Given the description of an element on the screen output the (x, y) to click on. 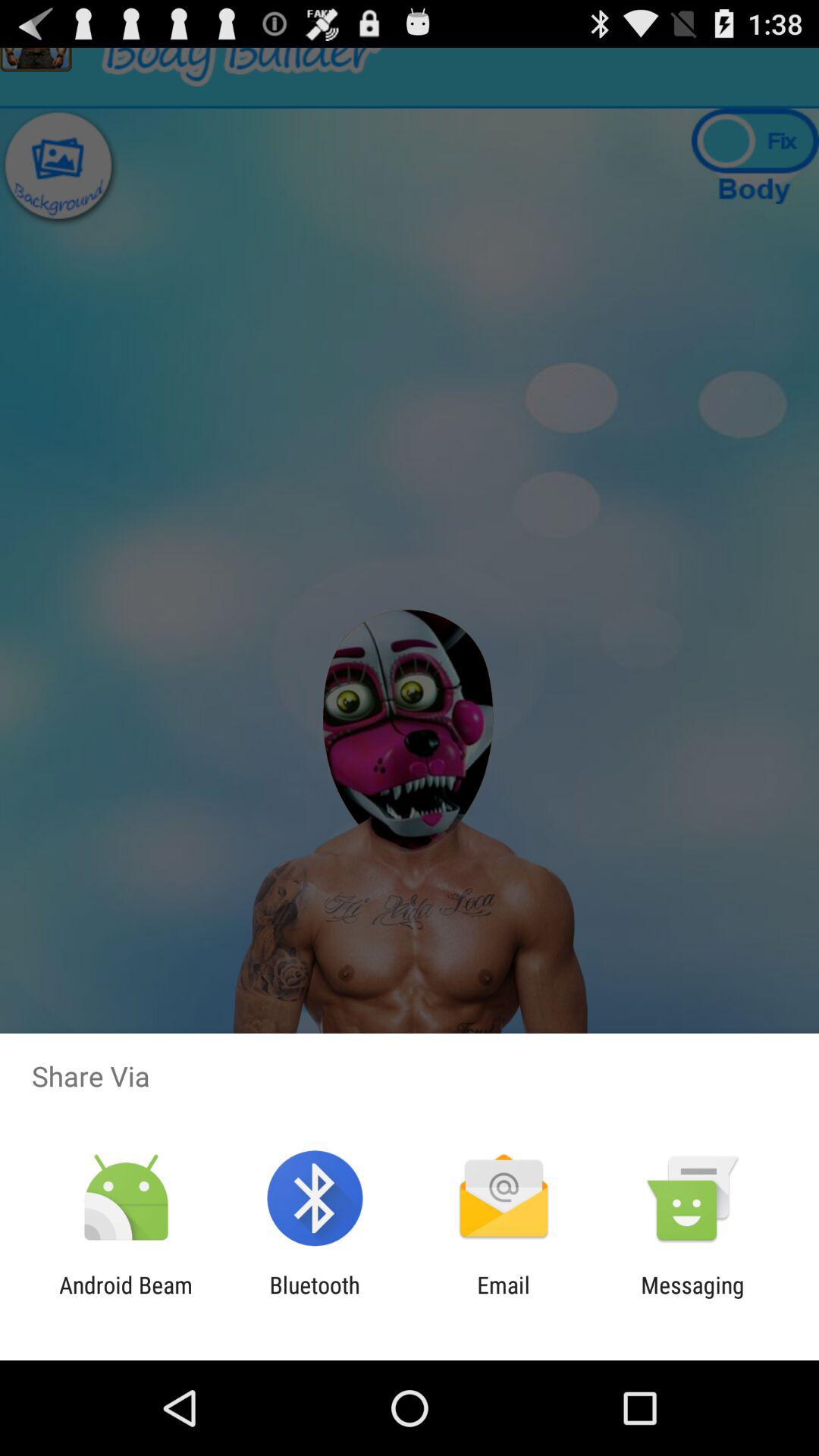
launch the item to the left of the messaging (503, 1298)
